Given the description of an element on the screen output the (x, y) to click on. 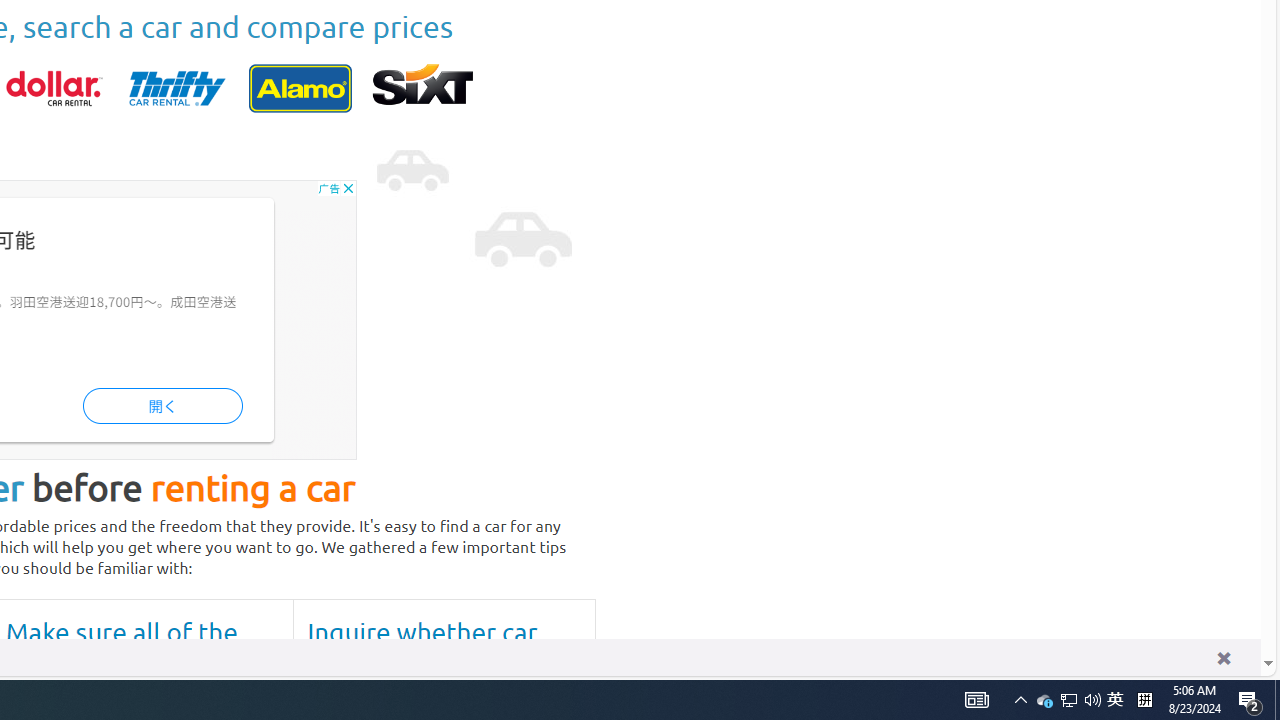
sixt (422, 88)
dismiss cookie message (1223, 657)
dollar (54, 88)
thrifty (177, 88)
alamo (300, 88)
AutomationID: cbb (347, 187)
